Given the description of an element on the screen output the (x, y) to click on. 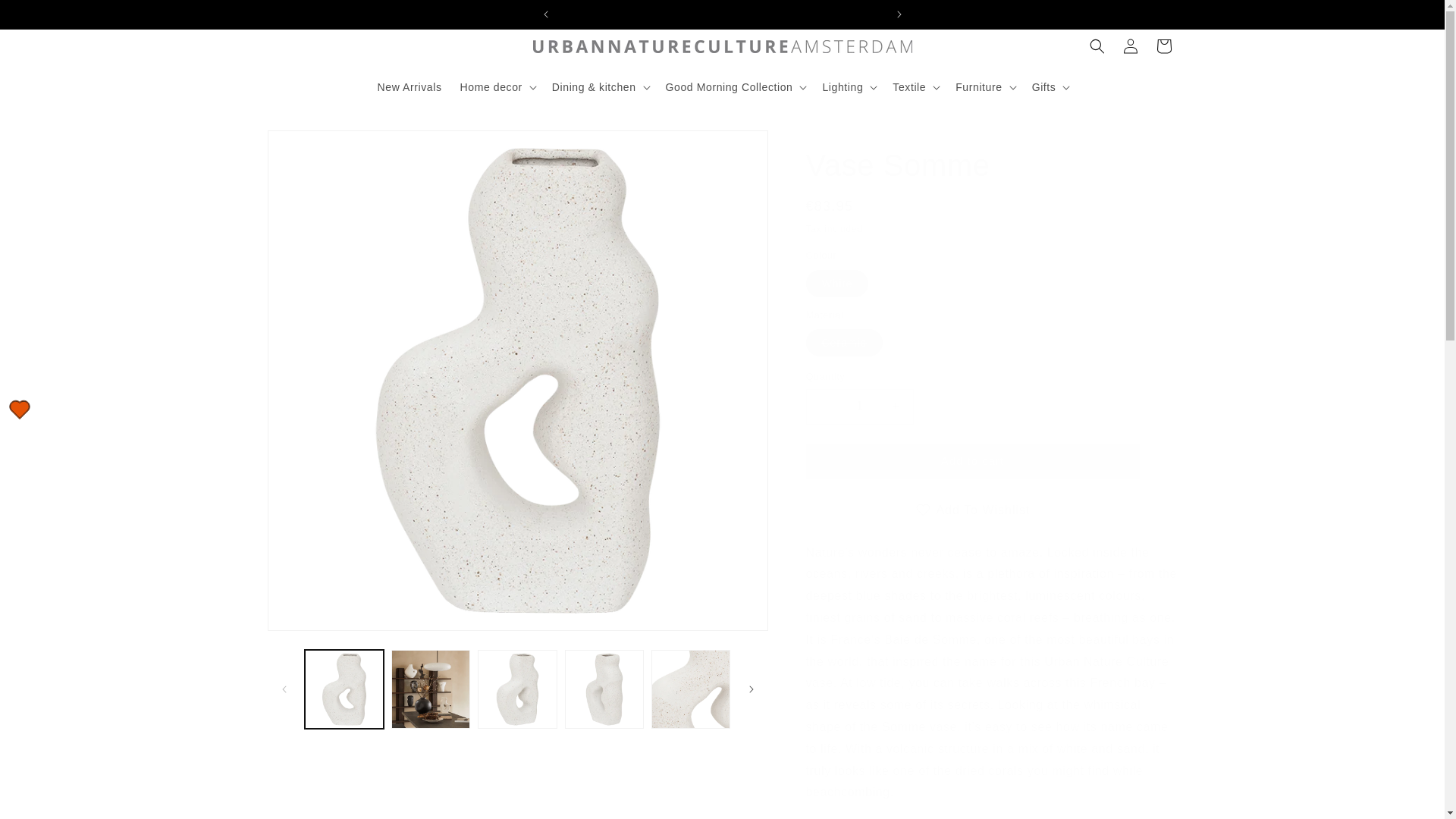
1 (858, 407)
Skip to content (45, 17)
Wishlist (19, 409)
